Given the description of an element on the screen output the (x, y) to click on. 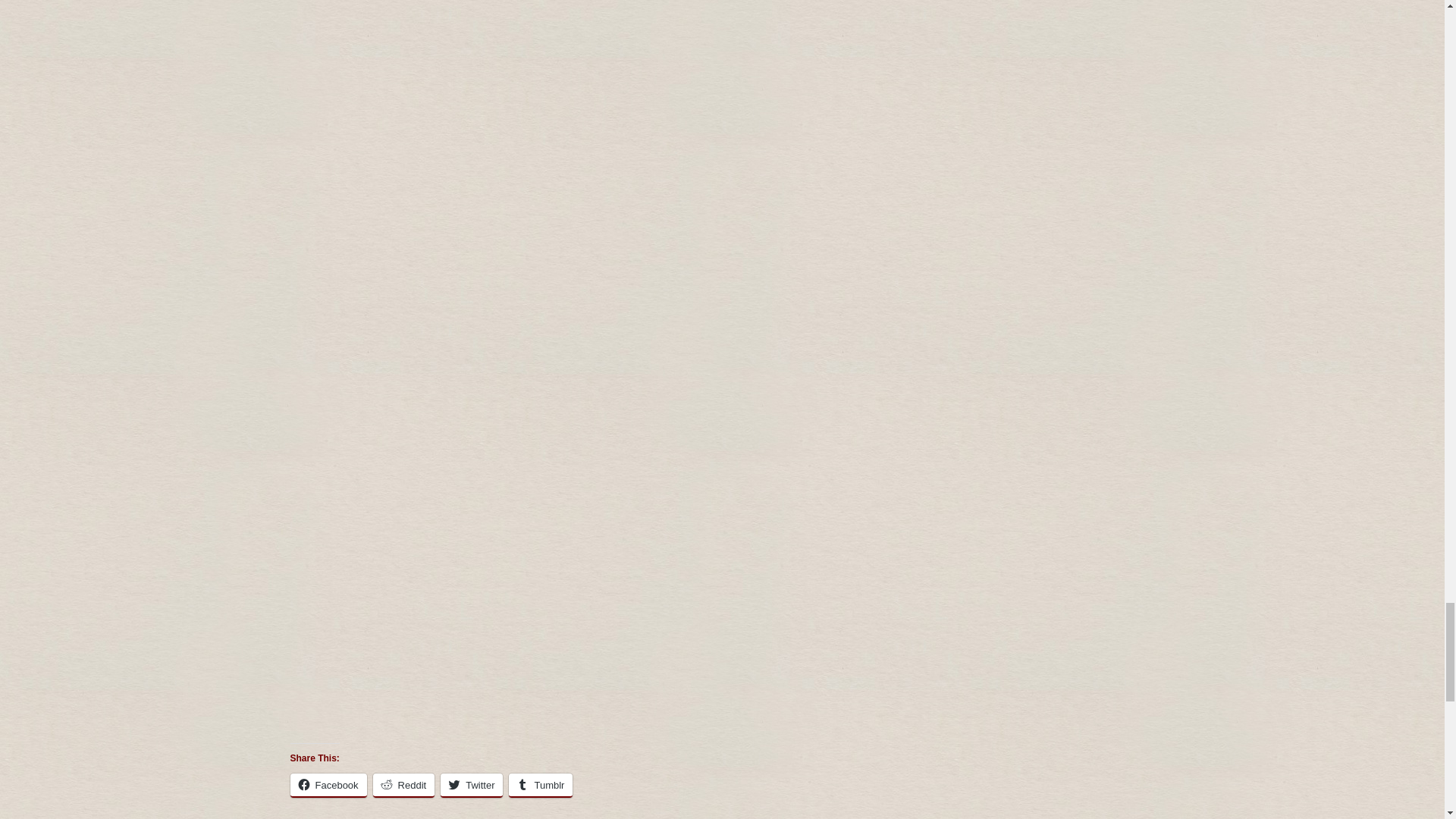
Click to share on Reddit (403, 785)
Click to share on Facebook (327, 785)
Click to share on Twitter (471, 785)
Twitter (471, 785)
Reddit (403, 785)
Click to share on Tumblr (540, 785)
Facebook (327, 785)
Tumblr (540, 785)
